Given the description of an element on the screen output the (x, y) to click on. 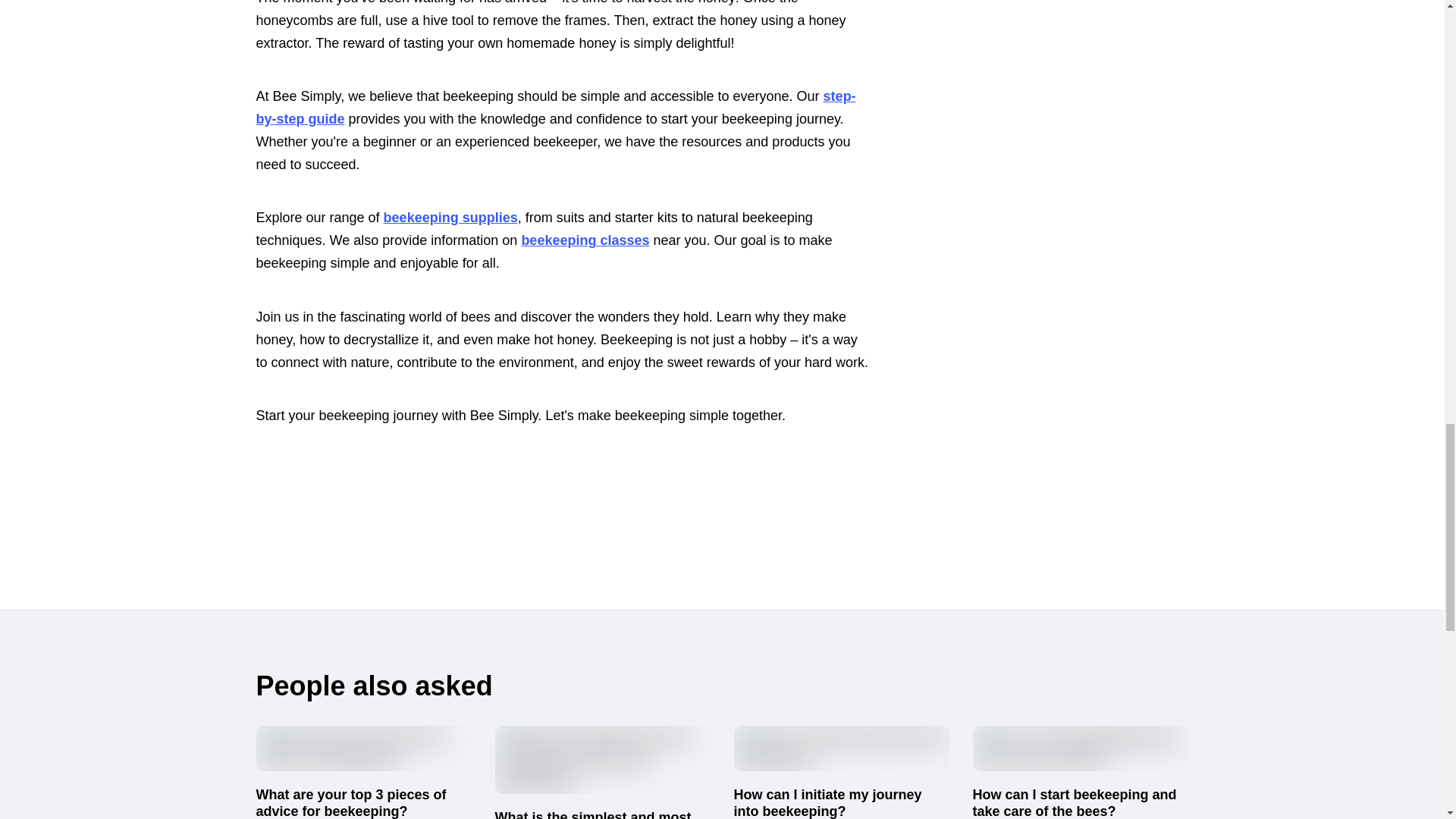
step-by-step guide (556, 107)
beekeeping supplies (451, 217)
beekeeping classes (585, 240)
